Given the description of an element on the screen output the (x, y) to click on. 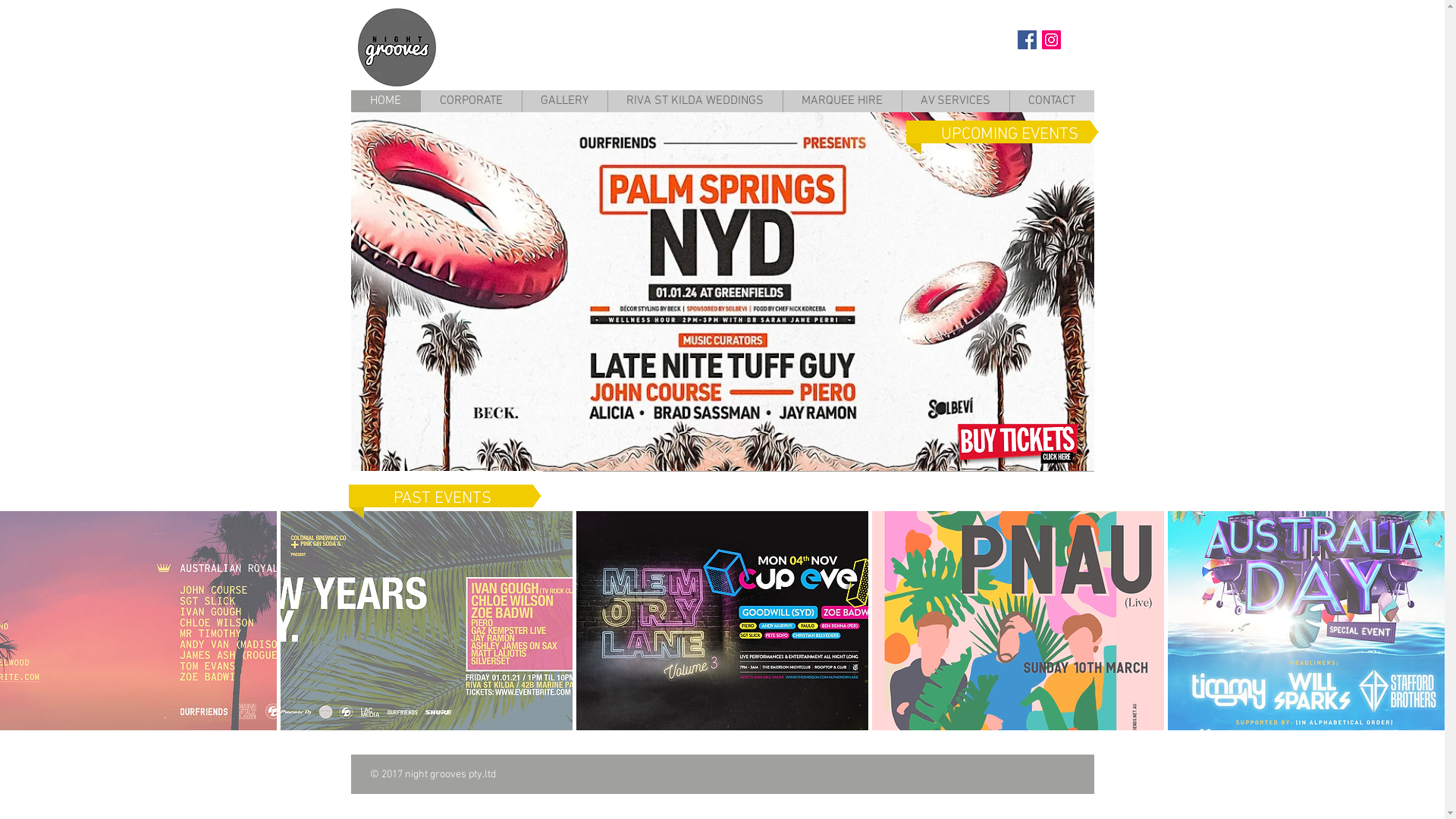
CONTACT Element type: text (1050, 101)
MARQUEE HIRE Element type: text (841, 101)
GALLERY Element type: text (564, 101)
AV SERVICES Element type: text (954, 101)
HOME Element type: text (384, 101)
RIVA ST KILDA WEDDINGS Element type: text (693, 101)
CORPORATE Element type: text (470, 101)
